Given the description of an element on the screen output the (x, y) to click on. 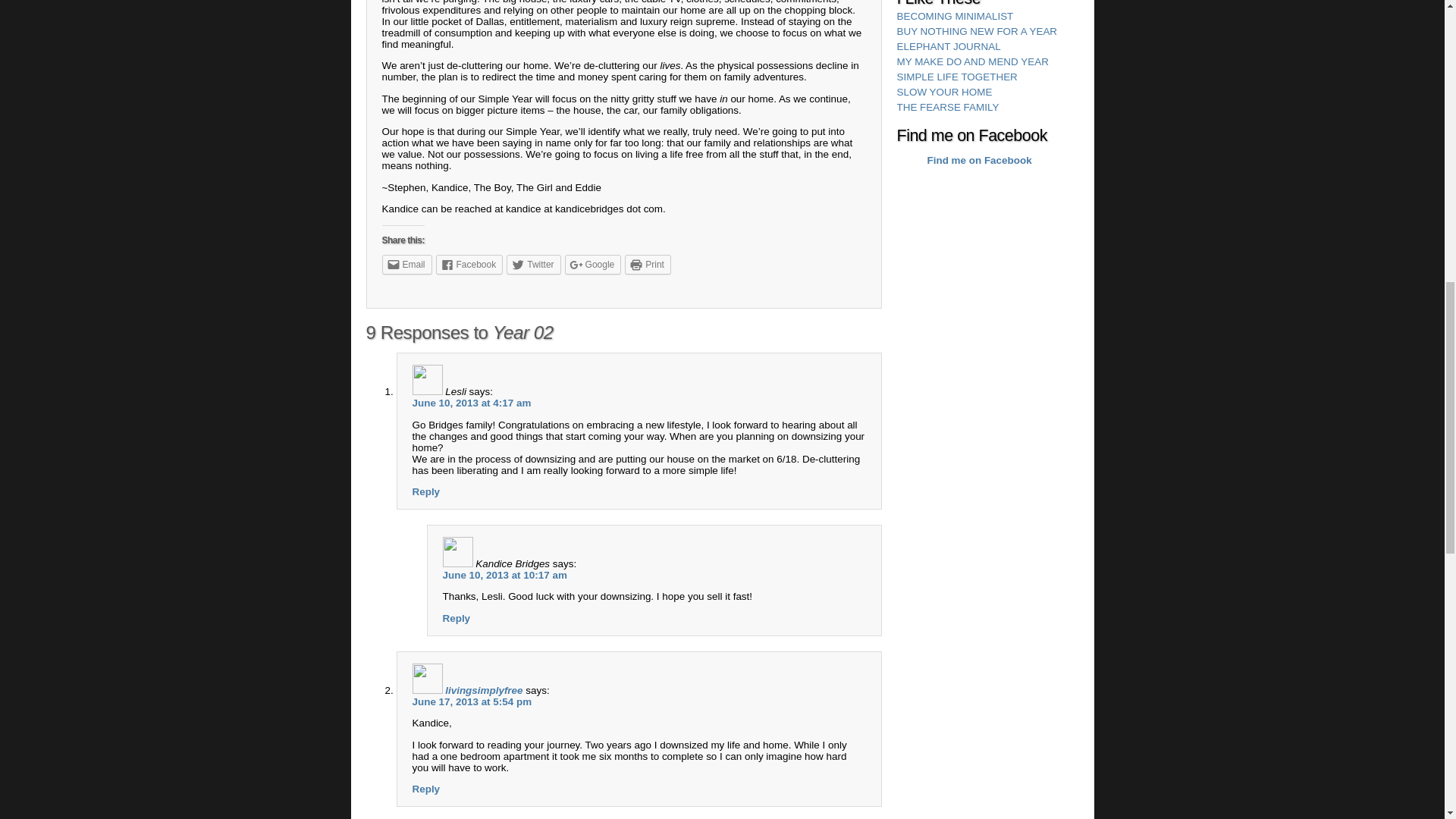
Print (647, 264)
Reply (426, 491)
Click to email this to a friend (406, 264)
Click to share on Twitter (533, 264)
June 17, 2013 at 5:54 pm (472, 701)
Email (406, 264)
Click to share on Facebook (469, 264)
June 10, 2013 at 4:17 am (471, 402)
June 10, 2013 at 10:17 am (504, 574)
Click to print (647, 264)
Facebook (469, 264)
Reply (456, 618)
Reply (426, 788)
livingsimplyfree (483, 690)
Twitter (533, 264)
